Given the description of an element on the screen output the (x, y) to click on. 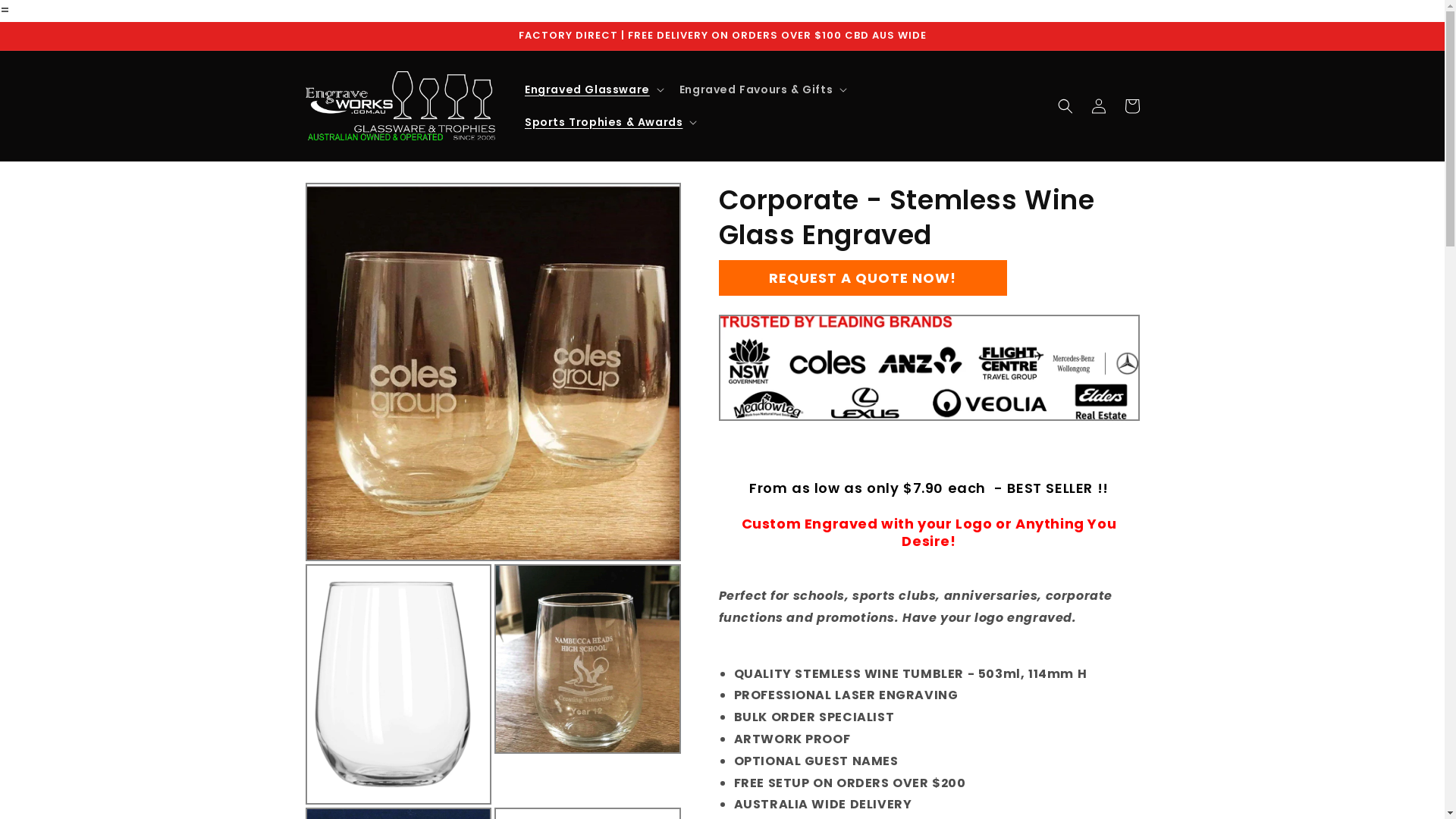
Cart Element type: text (1131, 105)
REQUEST A QUOTE NOW! Element type: text (862, 277)
Log in Element type: text (1097, 105)
Skip to product information Element type: text (350, 199)
